Given the description of an element on the screen output the (x, y) to click on. 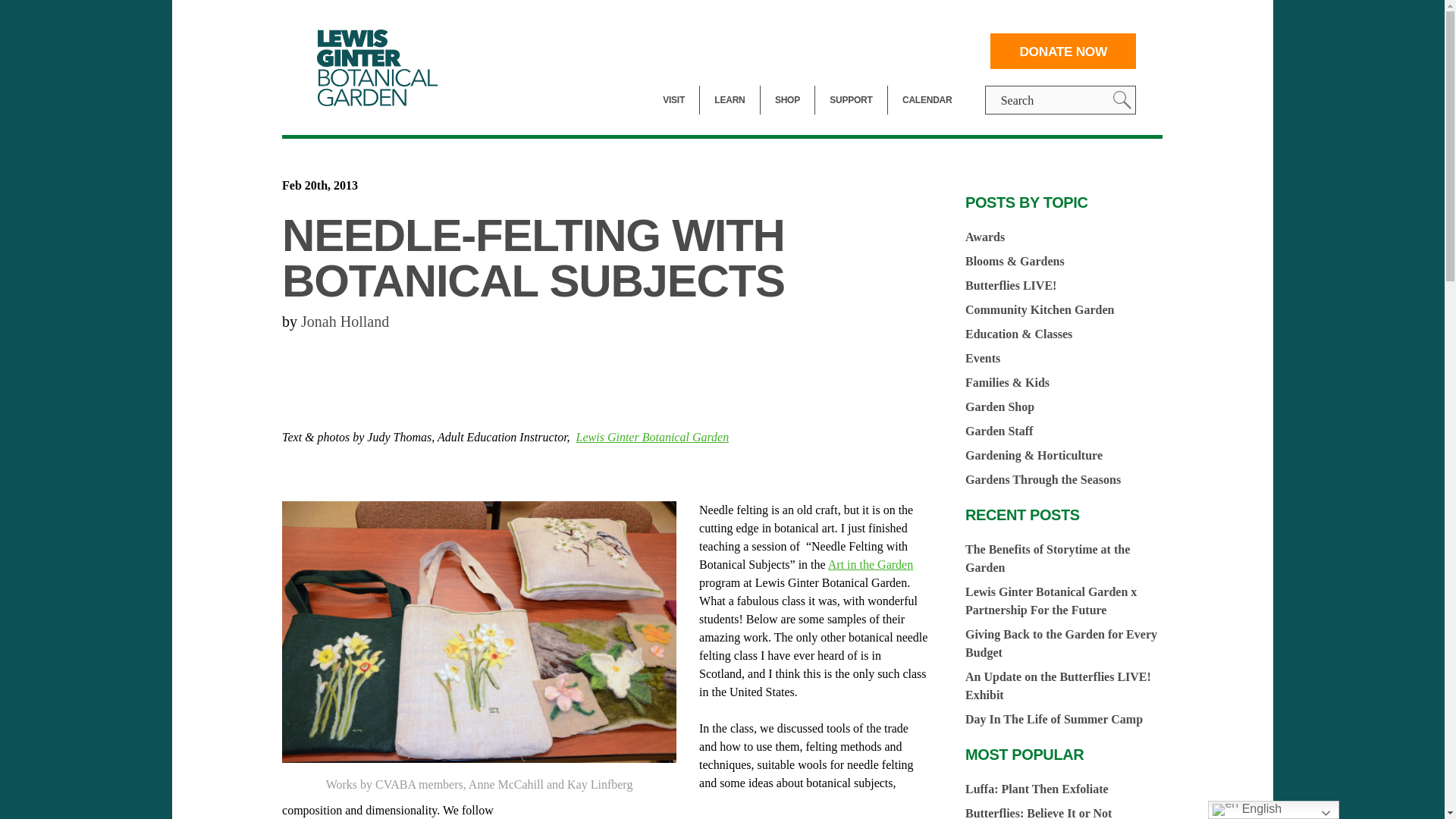
Search (1122, 99)
Works by CVABA members, Anne McCahill and Kay Linfberg (479, 631)
LEWIS GINTER BOTANICAL GARDEN (381, 67)
VISIT (672, 99)
Search (1122, 99)
